Given the description of an element on the screen output the (x, y) to click on. 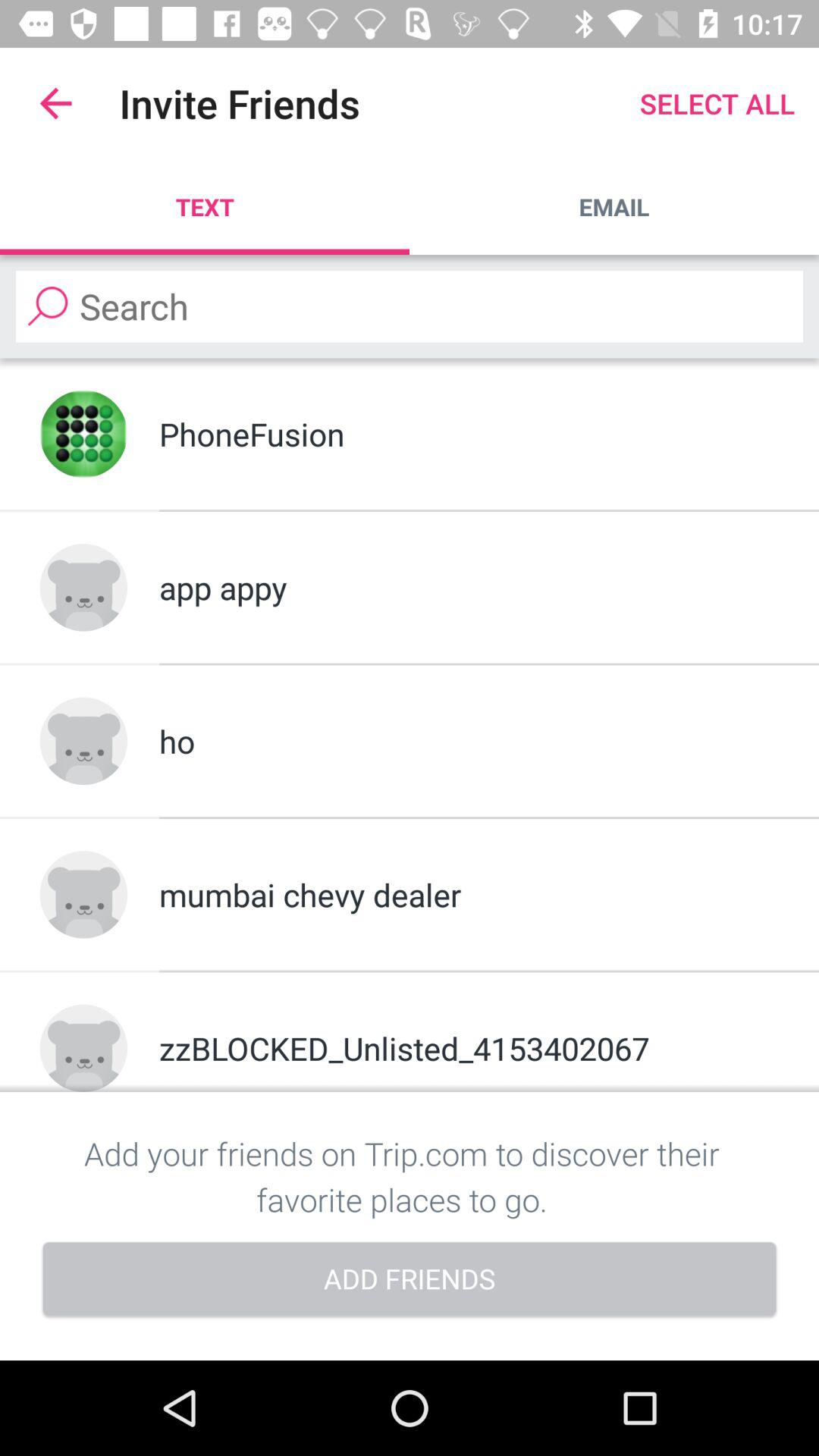
click the item next to the text (614, 206)
